Given the description of an element on the screen output the (x, y) to click on. 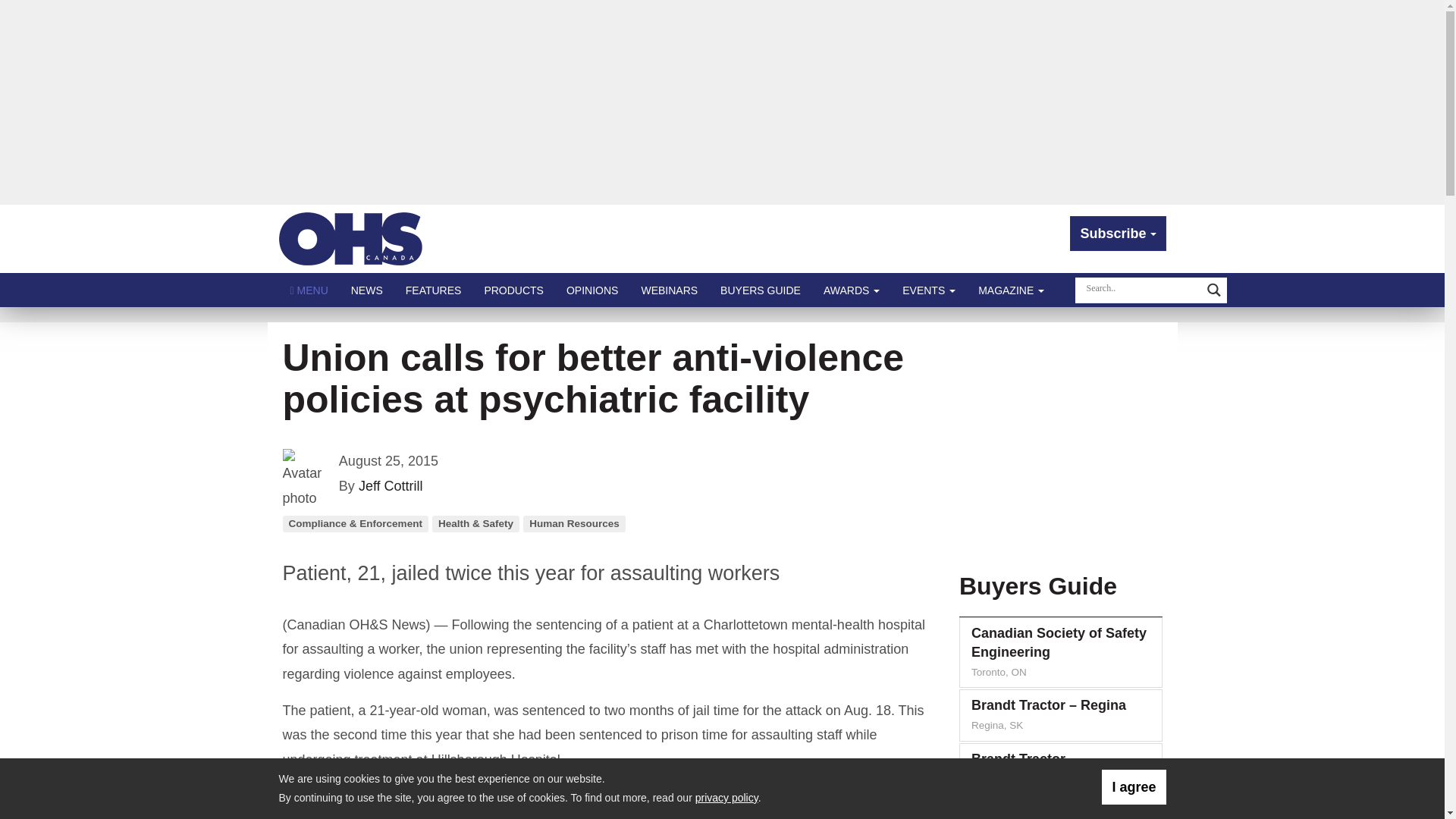
OPINIONS (591, 289)
MAGAZINE (1010, 289)
OHS Canada Magazine (351, 237)
Subscribe (1118, 233)
AWARDS (851, 289)
EVENTS (928, 289)
PRODUCTS (512, 289)
NEWS (366, 289)
FEATURES (433, 289)
MENU (309, 289)
Click to show site navigation (309, 289)
WEBINARS (668, 289)
3rd party ad content (1057, 442)
BUYERS GUIDE (760, 289)
